Given the description of an element on the screen output the (x, y) to click on. 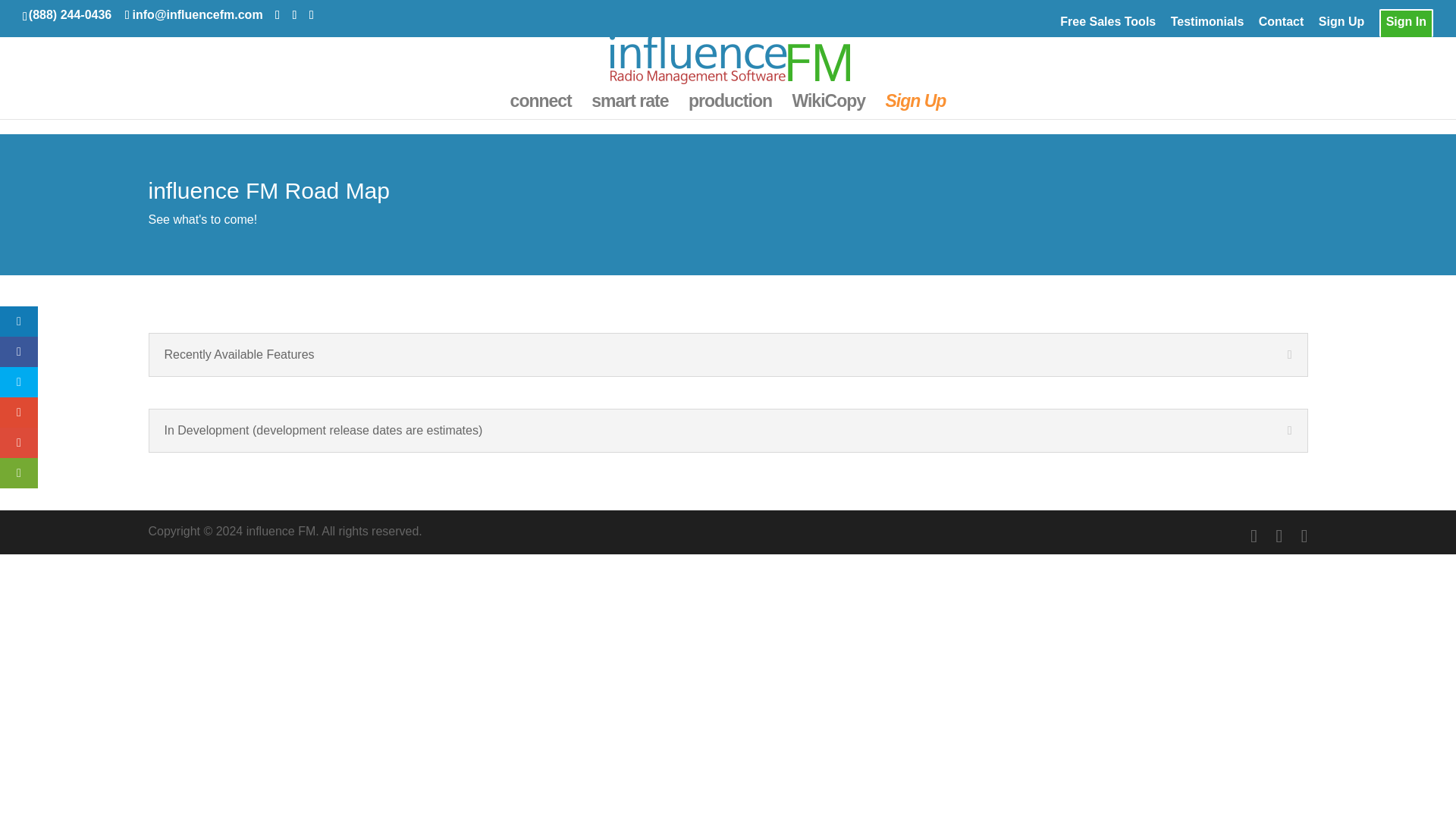
production (729, 106)
Sign Up (1341, 25)
Free Sales Tools (1107, 25)
Sign Up (915, 106)
Sign In (1406, 25)
Contact (1281, 25)
connect (541, 106)
Testimonials (1207, 25)
WikiCopy (828, 106)
smart rate (629, 106)
